Given the description of an element on the screen output the (x, y) to click on. 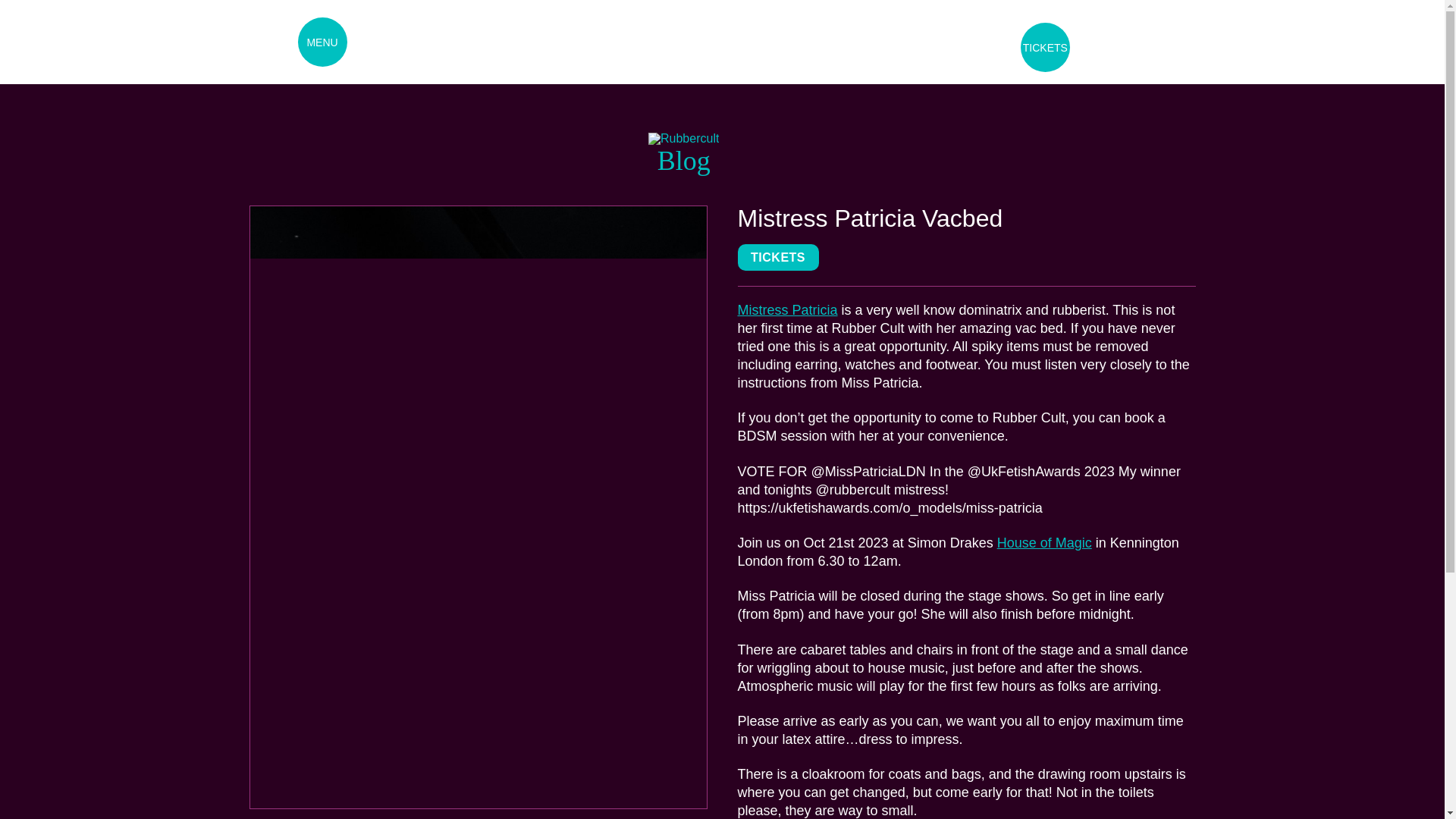
Mistress Patricia (786, 309)
House of Magic (1044, 542)
MENU (321, 41)
TICKETS (777, 257)
TICKETS (1045, 47)
